Given the description of an element on the screen output the (x, y) to click on. 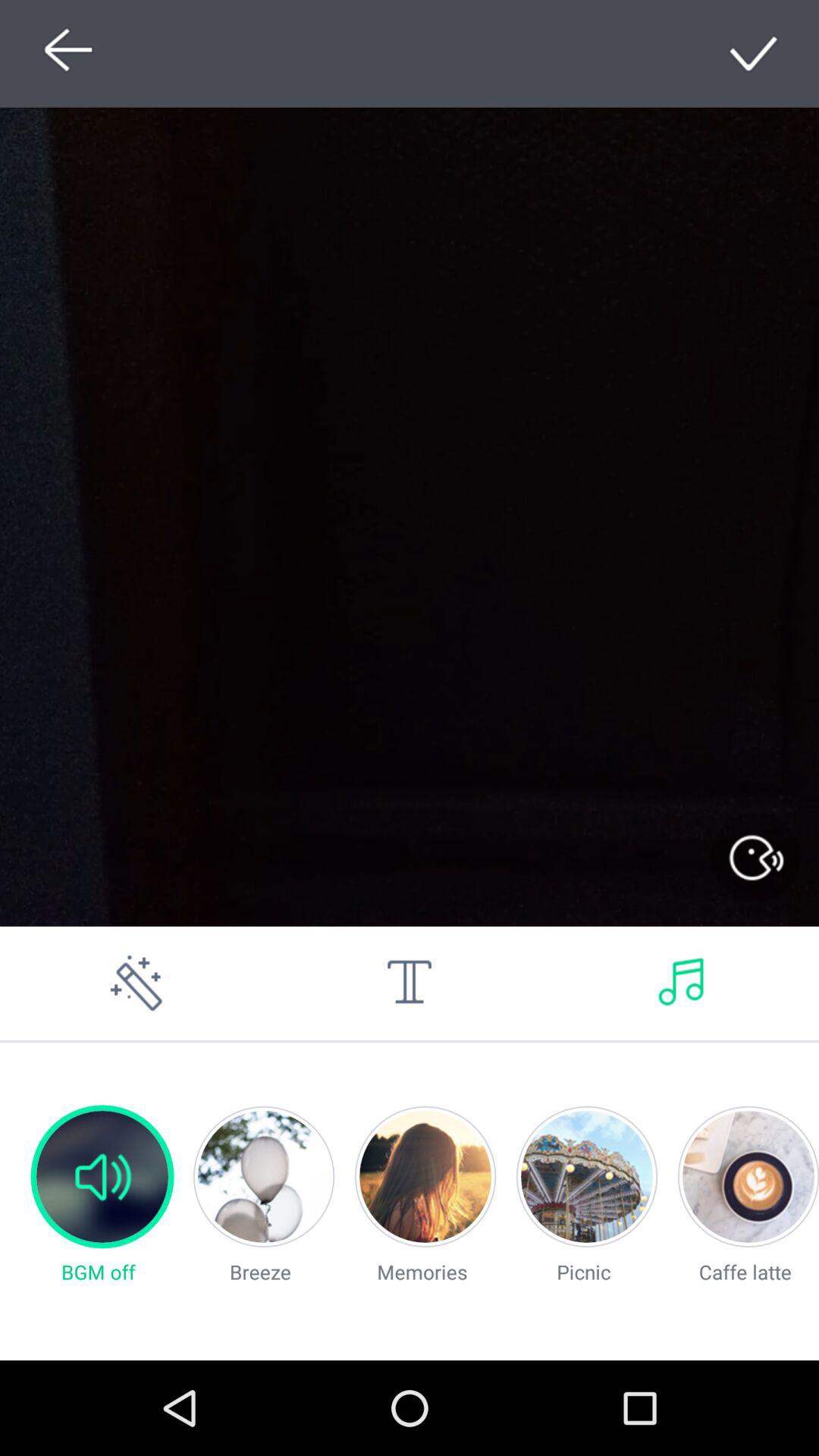
go back (63, 53)
